Given the description of an element on the screen output the (x, y) to click on. 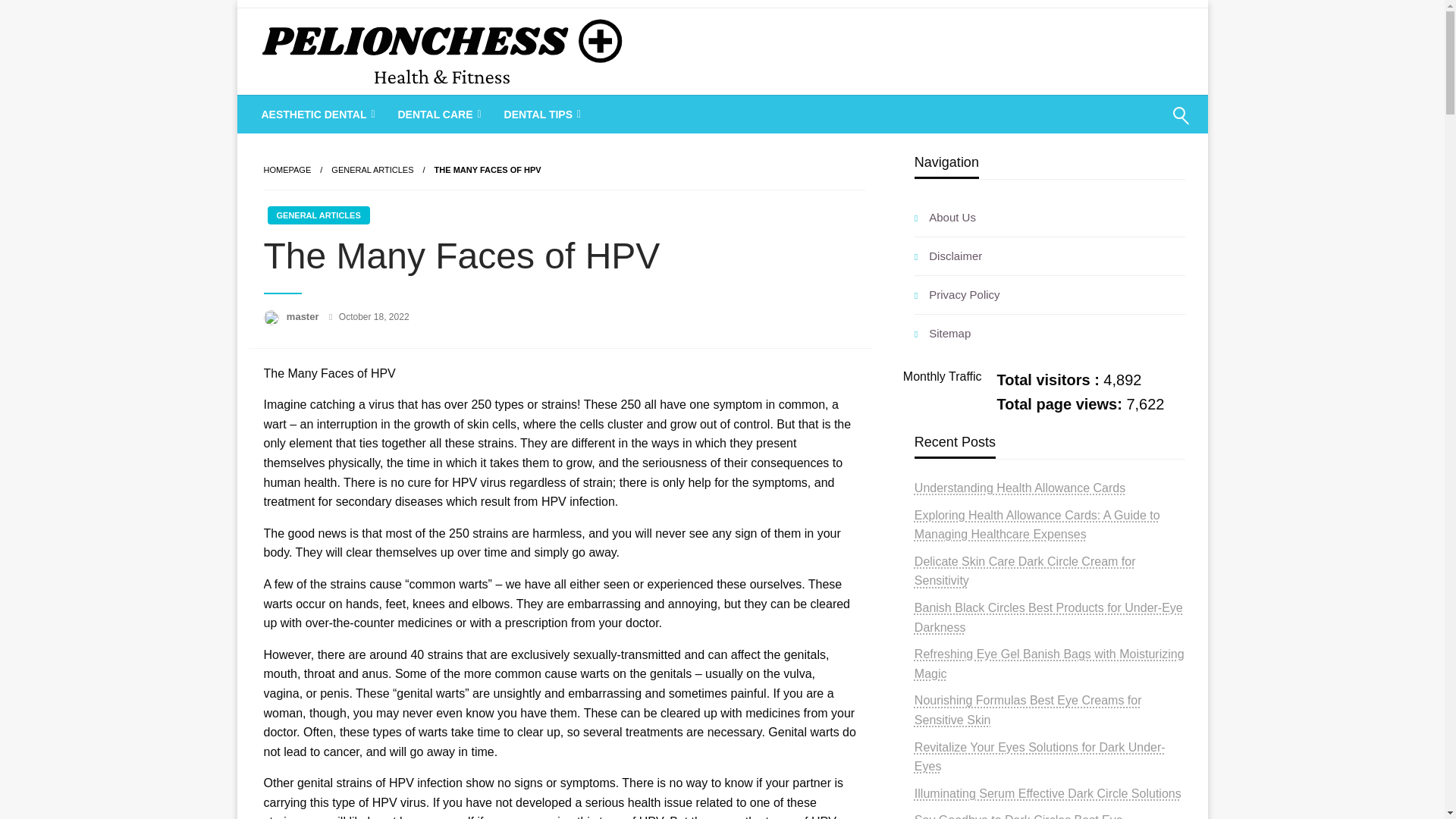
October 18, 2022 (374, 317)
master (303, 316)
General Articles (372, 169)
DENTAL CARE (437, 114)
Search (1144, 125)
GENERAL ARTICLES (317, 215)
PELIONCHESS (363, 114)
HOMEPAGE (287, 169)
AESTHETIC DENTAL (316, 114)
